Given the description of an element on the screen output the (x, y) to click on. 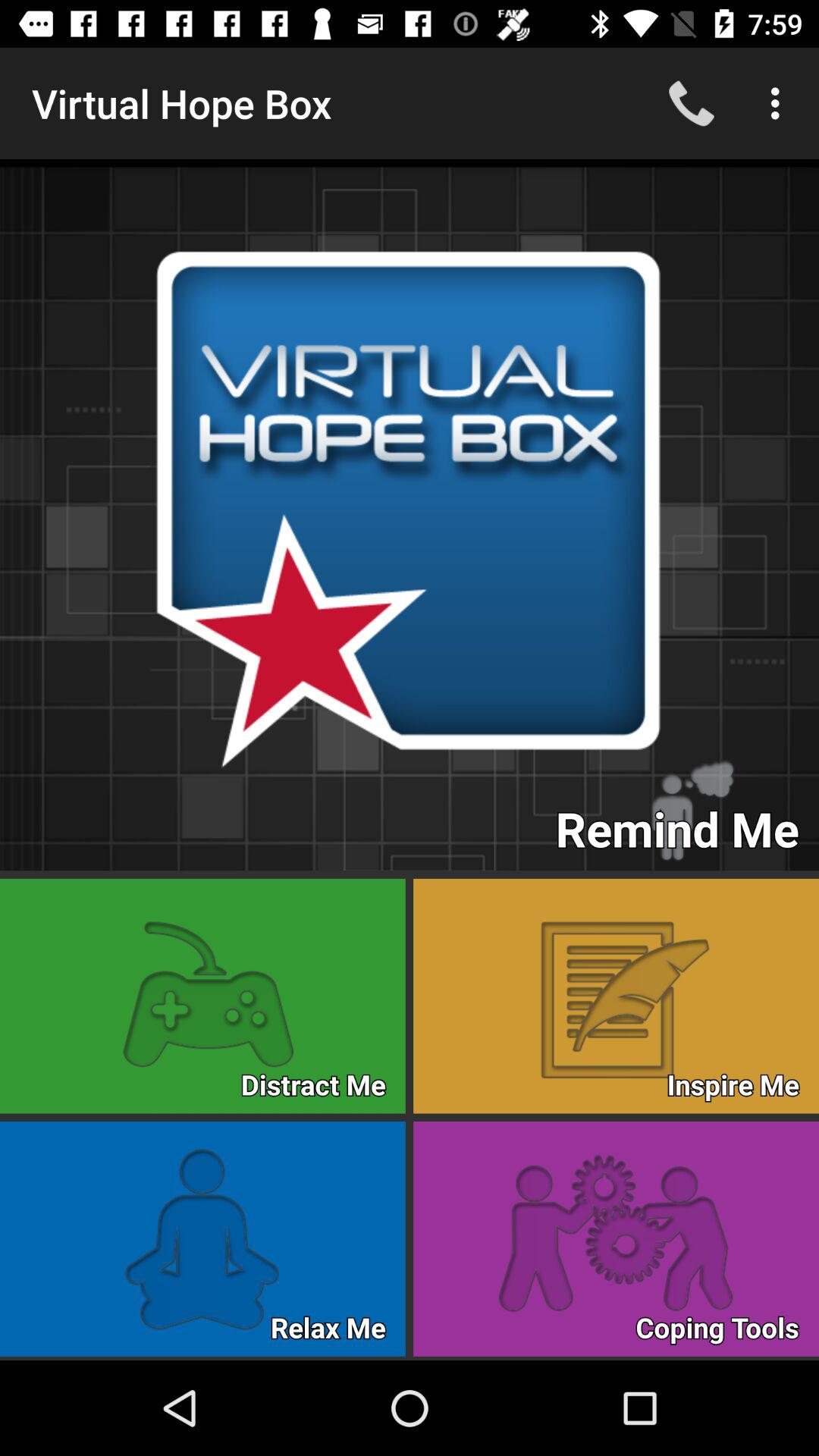
click on the phone icon at the top right of the web page (691, 103)
click on the three vertical dots at the top right of the web page (779, 103)
